Given the description of an element on the screen output the (x, y) to click on. 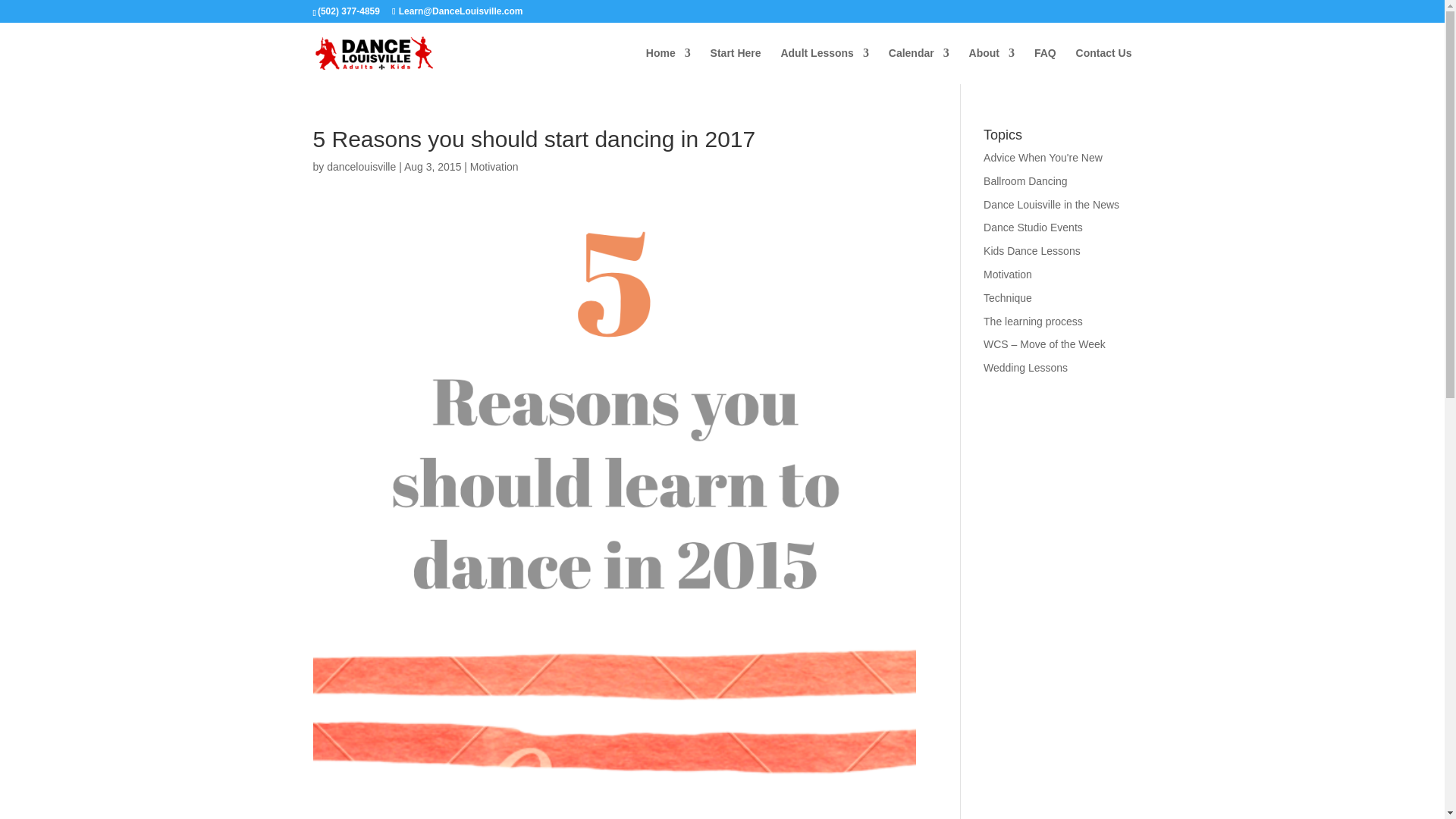
Start Here (735, 65)
Adult Lessons (823, 65)
Home (668, 65)
About (991, 65)
Calendar (918, 65)
Posts by dancelouisville (361, 166)
Contact Us (1103, 65)
